Given the description of an element on the screen output the (x, y) to click on. 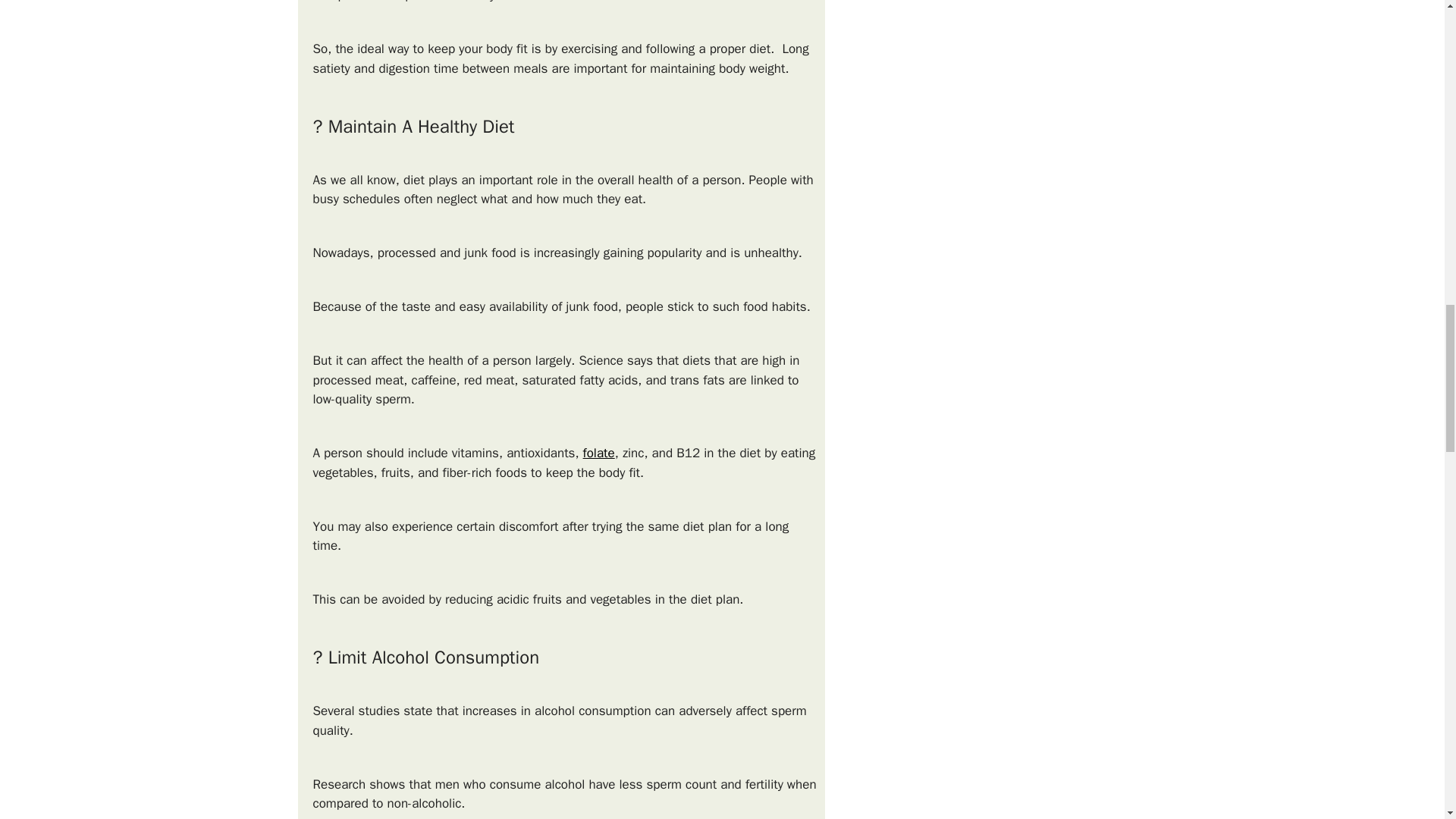
folate (598, 453)
